Given the description of an element on the screen output the (x, y) to click on. 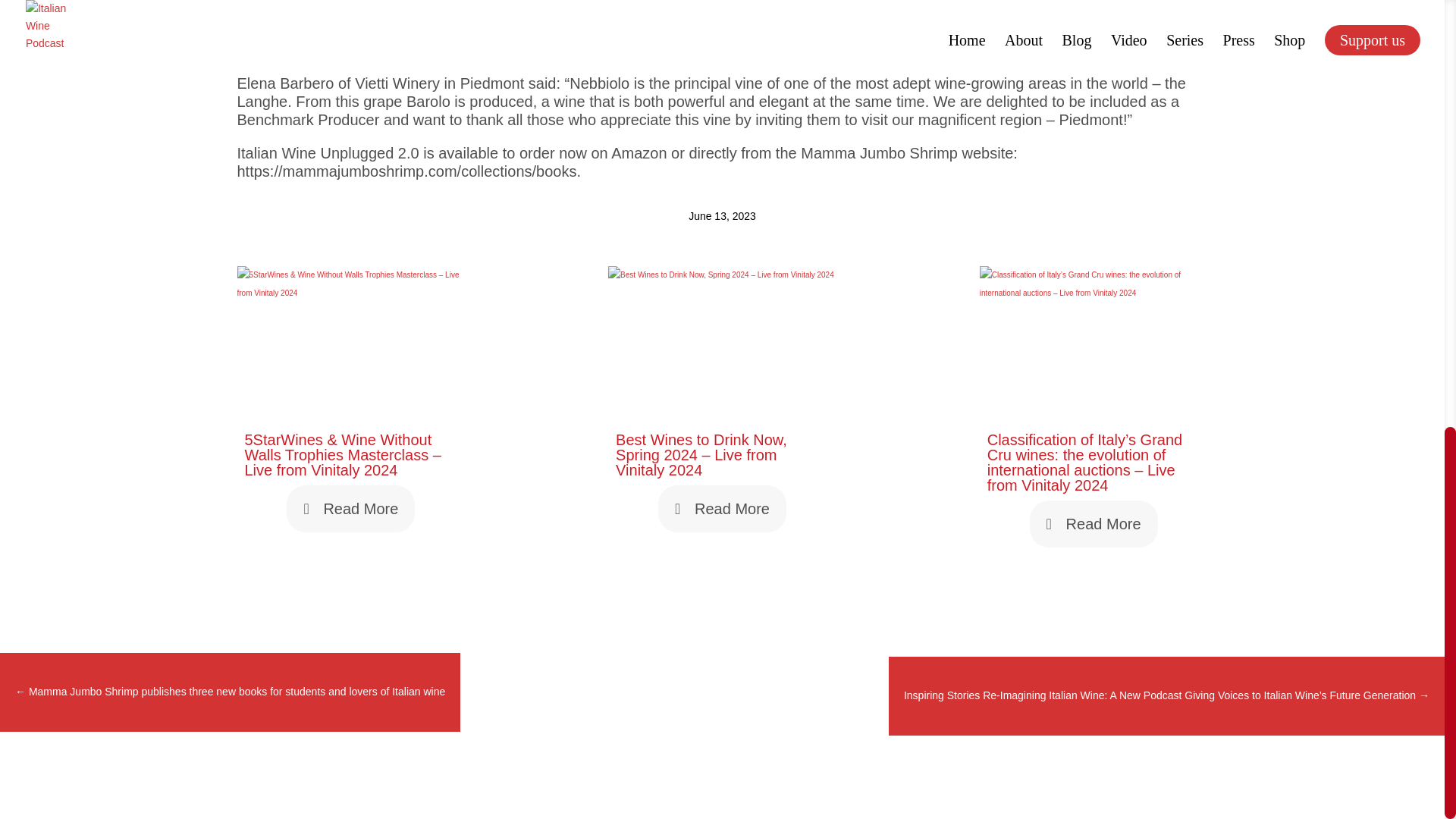
Read More (722, 508)
Read More (1093, 523)
Read More (350, 508)
